Given the description of an element on the screen output the (x, y) to click on. 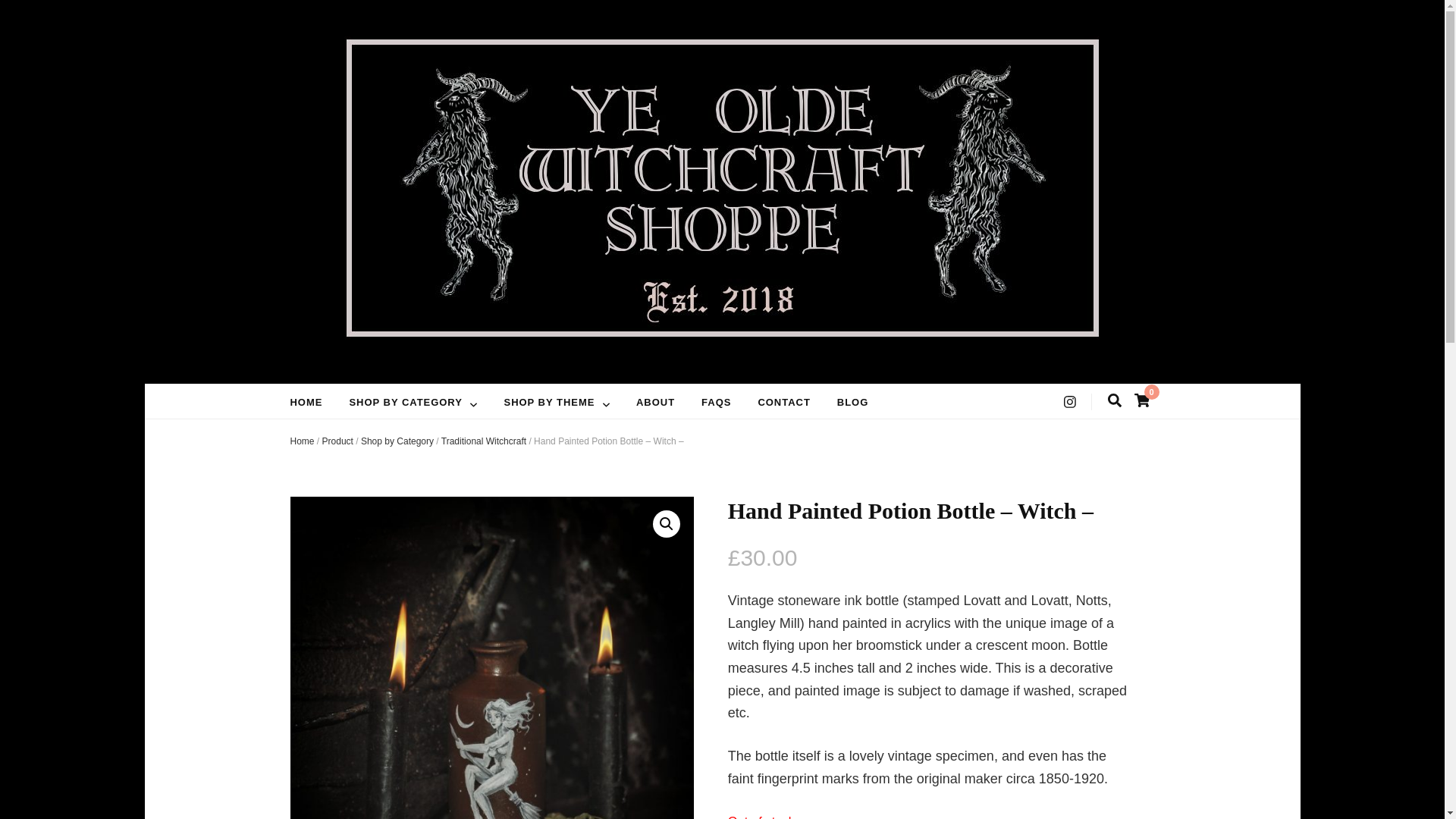
HOME (305, 402)
Traditional Witchcraft (483, 440)
Product (337, 440)
SHOP BY CATEGORY (405, 402)
BLOG (852, 402)
CONTACT (783, 402)
View your shopping cart (1142, 400)
Home (301, 440)
witch (491, 657)
ABOUT (655, 402)
0 (1142, 400)
FAQS (715, 402)
Shop by Category (397, 440)
Ye Olde Witchcraft Shoppe (540, 370)
SHOP BY THEME (549, 402)
